Given the description of an element on the screen output the (x, y) to click on. 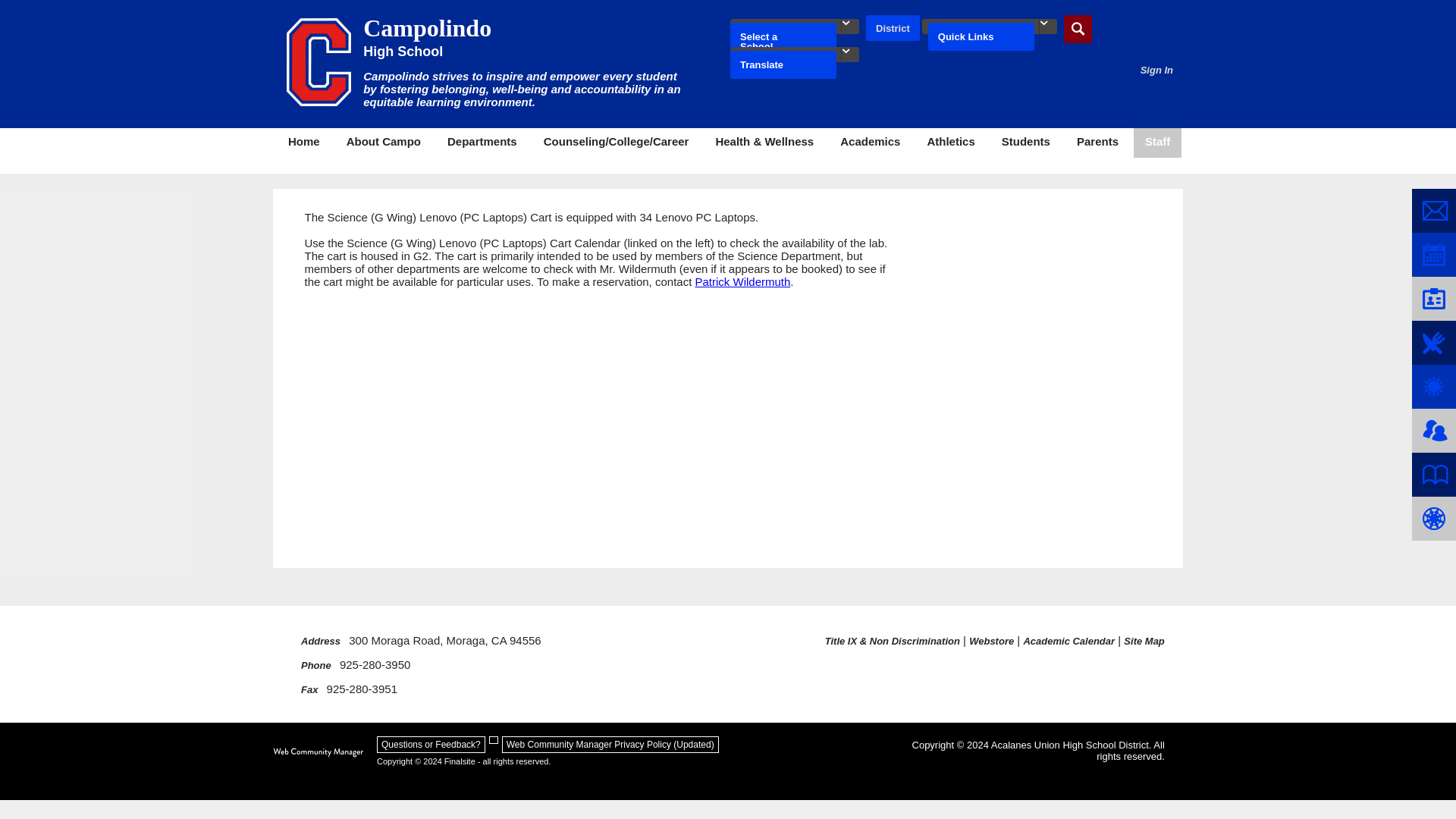
Return to the home page on the district site (893, 28)
Departments (481, 142)
About Campo (383, 142)
Finalsite - all rights reserved (318, 752)
Home (303, 142)
District (893, 28)
Sign In (1156, 70)
